Given the description of an element on the screen output the (x, y) to click on. 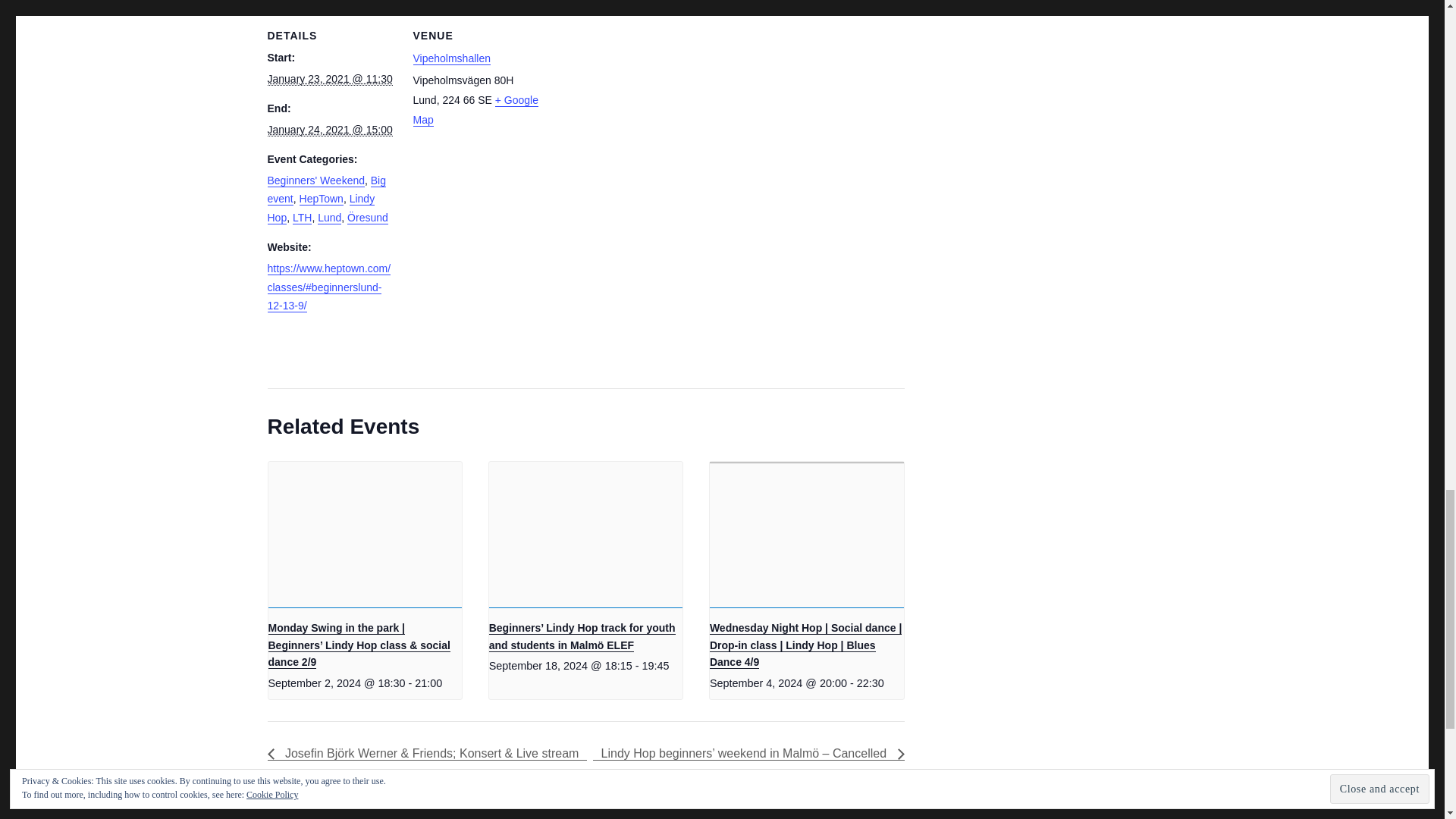
Lund (328, 217)
LTH (301, 217)
Click to view a Google Map (474, 110)
Beginners' Weekend (315, 180)
Big event (325, 189)
HepTown (321, 198)
2021-01-24 (328, 129)
2021-01-23 (328, 78)
Lindy Hop (320, 207)
